Given the description of an element on the screen output the (x, y) to click on. 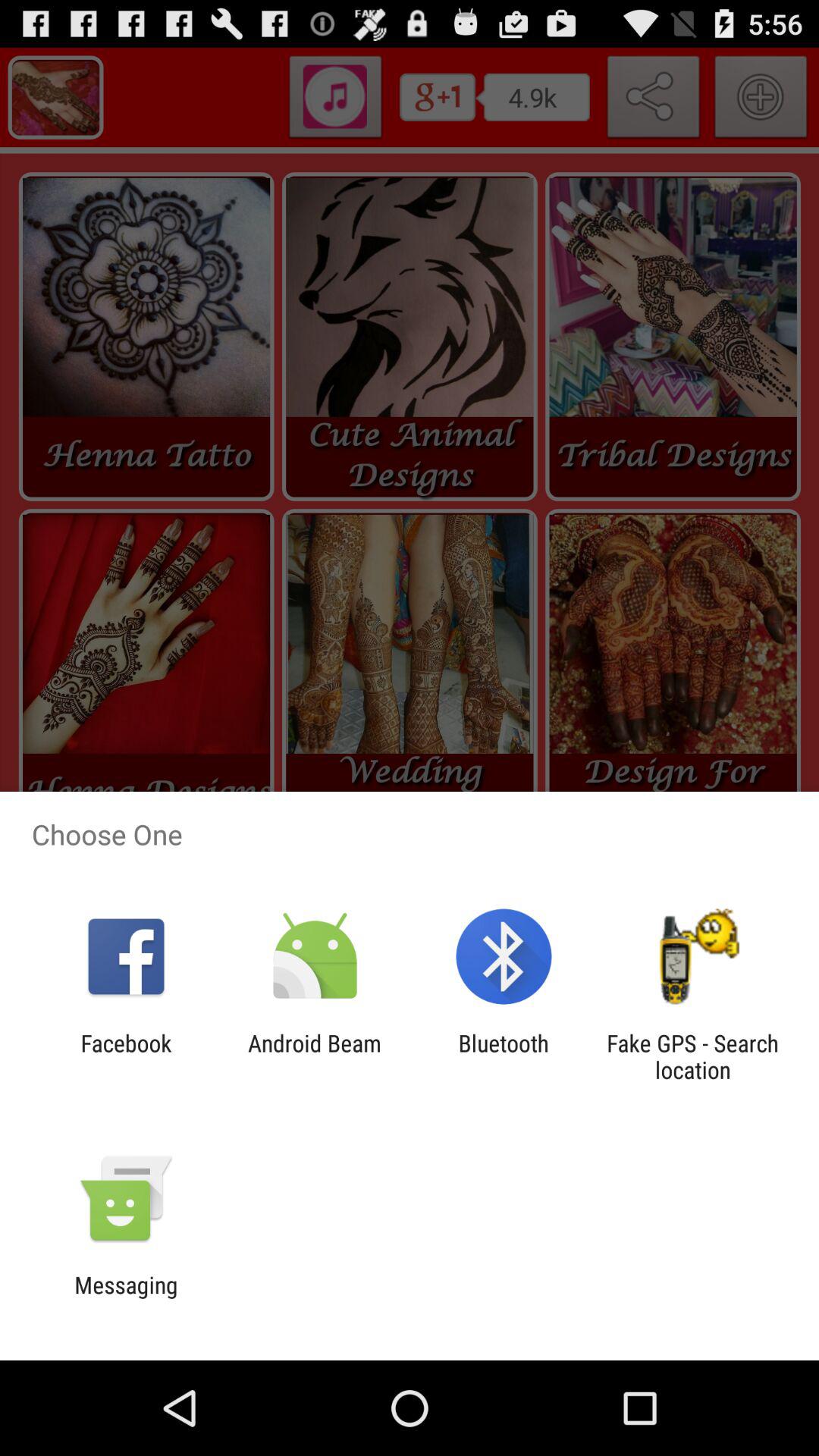
press facebook item (125, 1056)
